Given the description of an element on the screen output the (x, y) to click on. 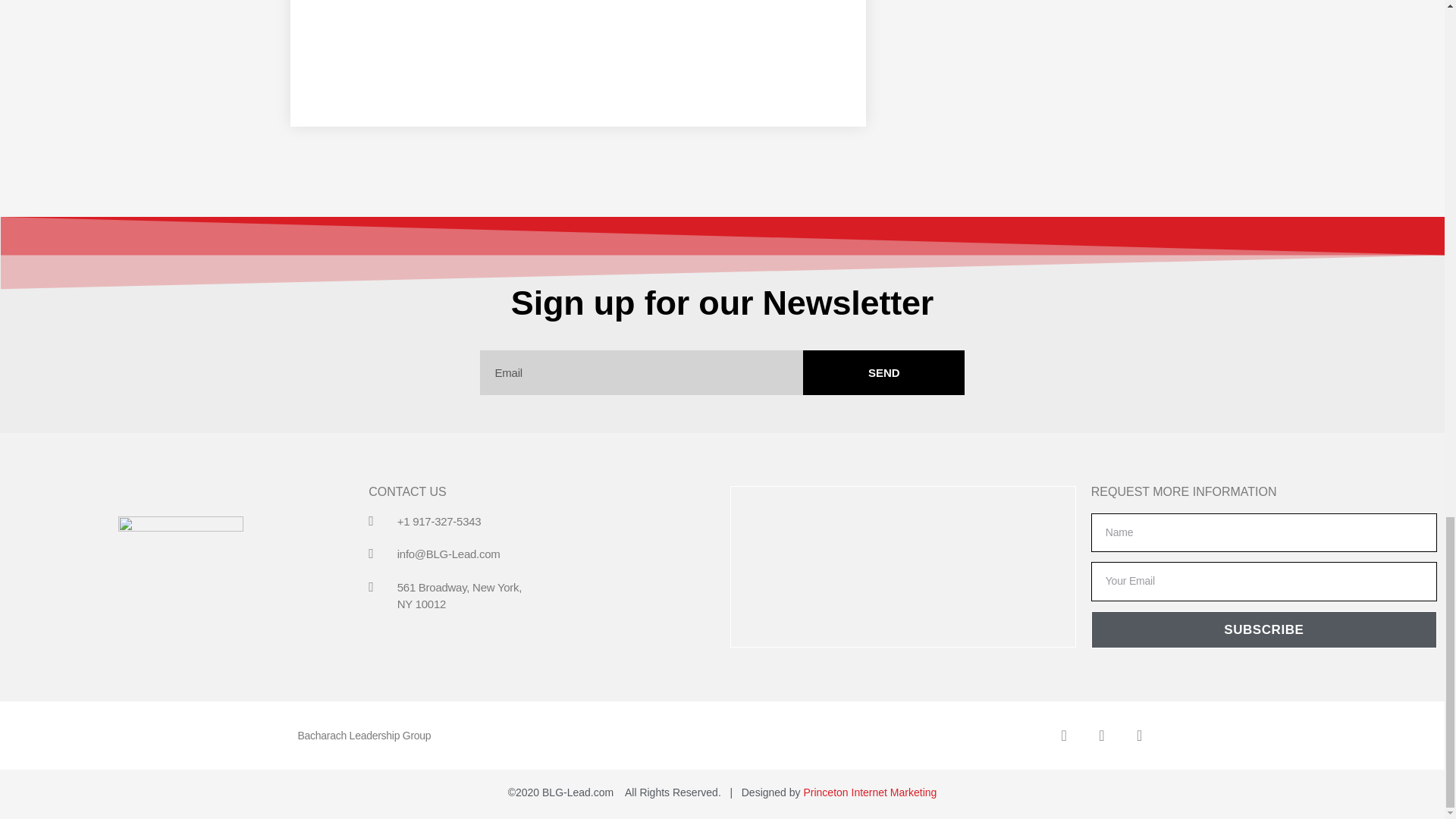
Princeton Internet Marketing (869, 792)
SUBSCRIBE (1263, 629)
SEND (883, 372)
